Given the description of an element on the screen output the (x, y) to click on. 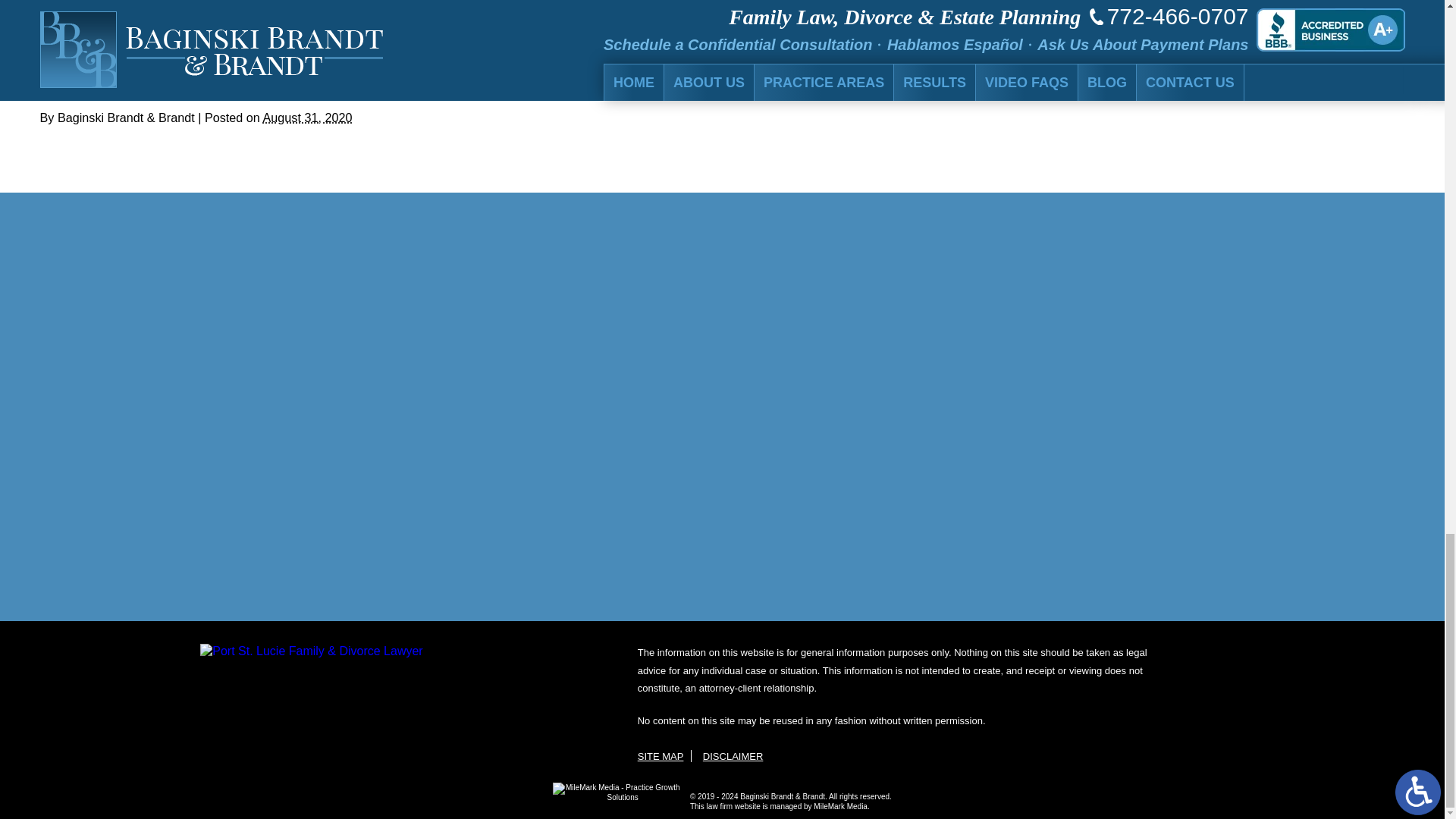
Facebook (63, 86)
Twitter (74, 86)
LinkedIn (85, 86)
2020-08-31T03:00:10-0700 (307, 117)
